Given the description of an element on the screen output the (x, y) to click on. 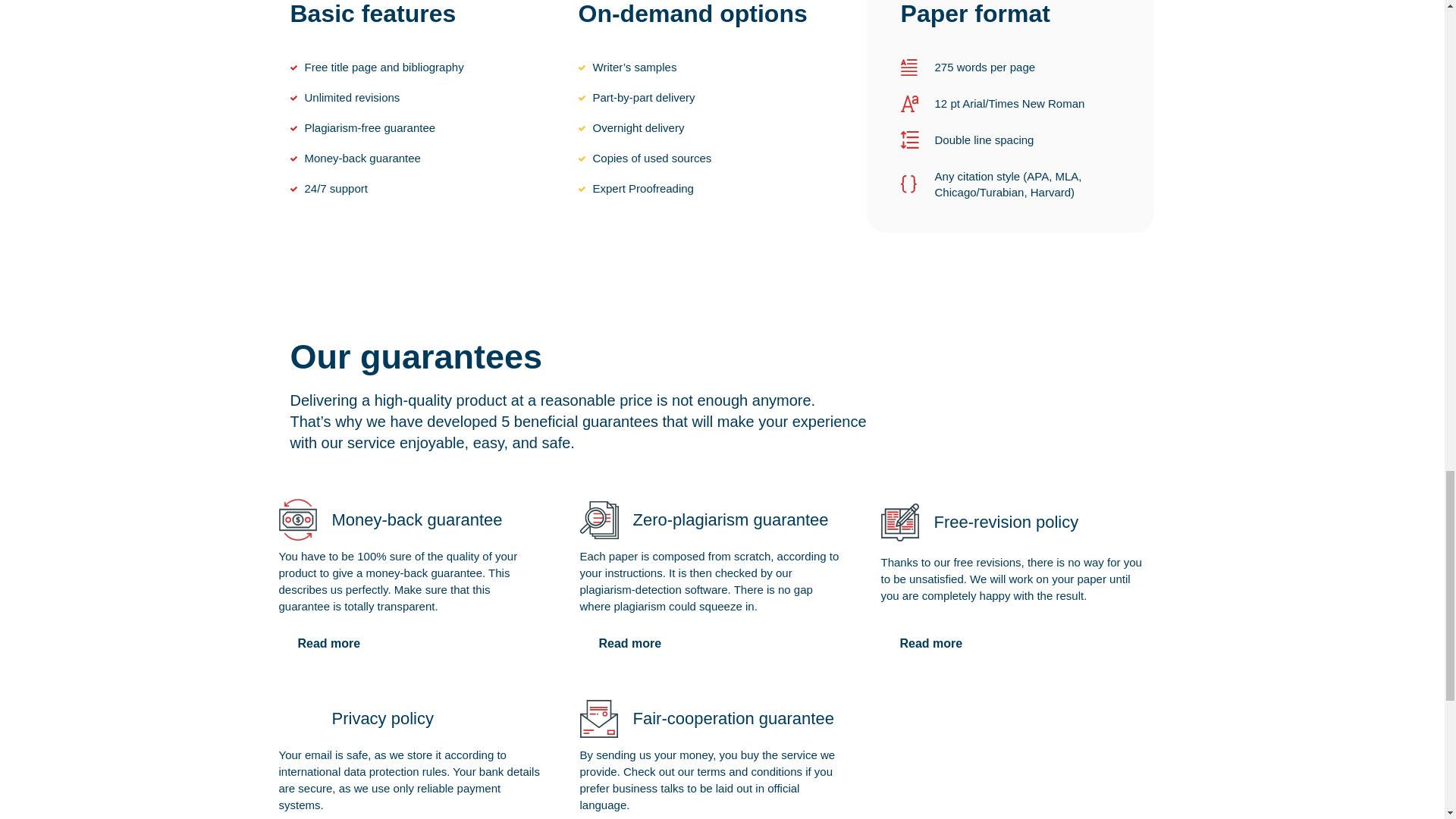
Read more (329, 644)
Read more (930, 644)
Read more (629, 644)
